Given the description of an element on the screen output the (x, y) to click on. 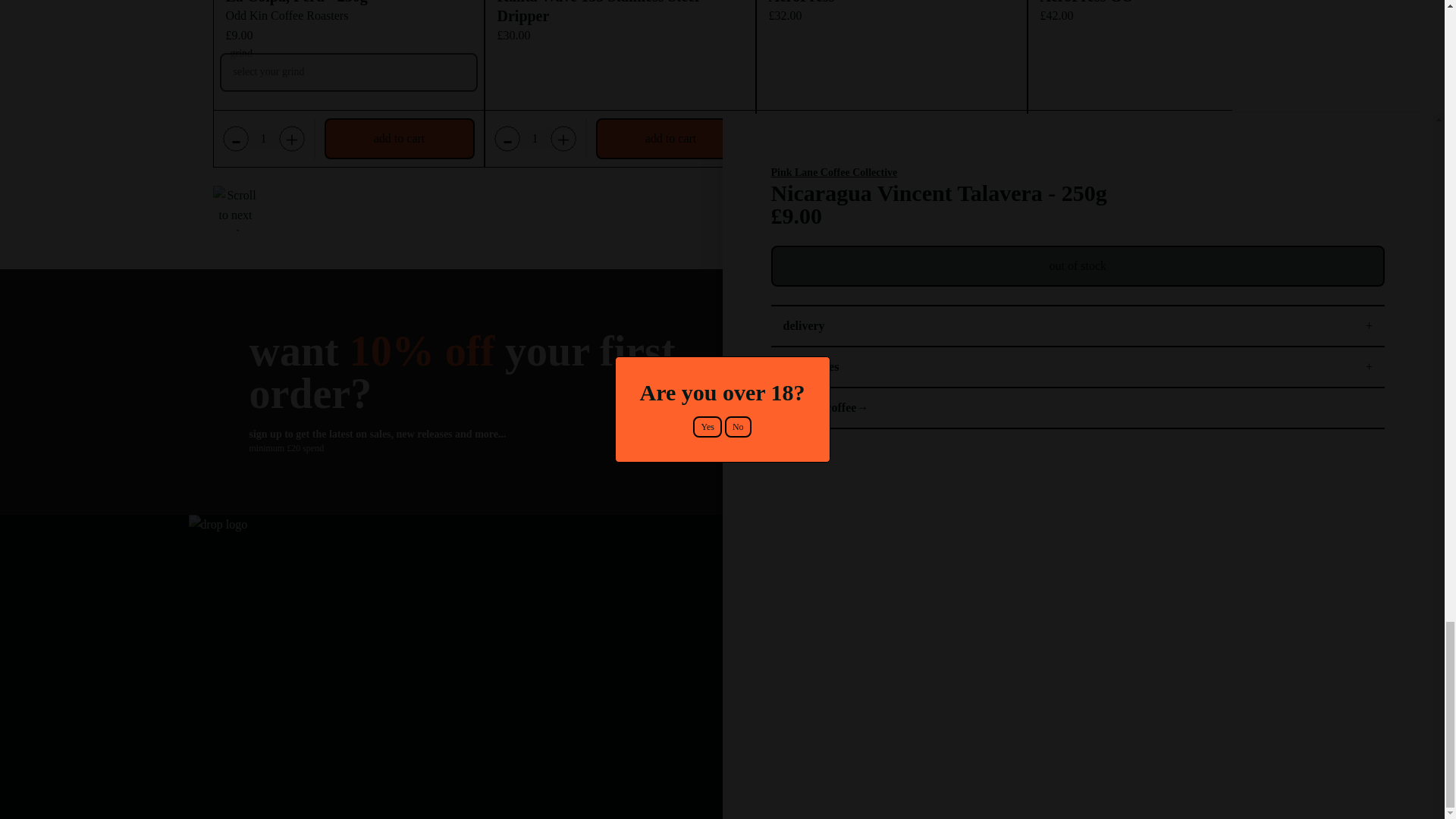
1 (534, 138)
1 (807, 138)
1 (1077, 138)
1 (1350, 138)
1 (263, 138)
